Given the description of an element on the screen output the (x, y) to click on. 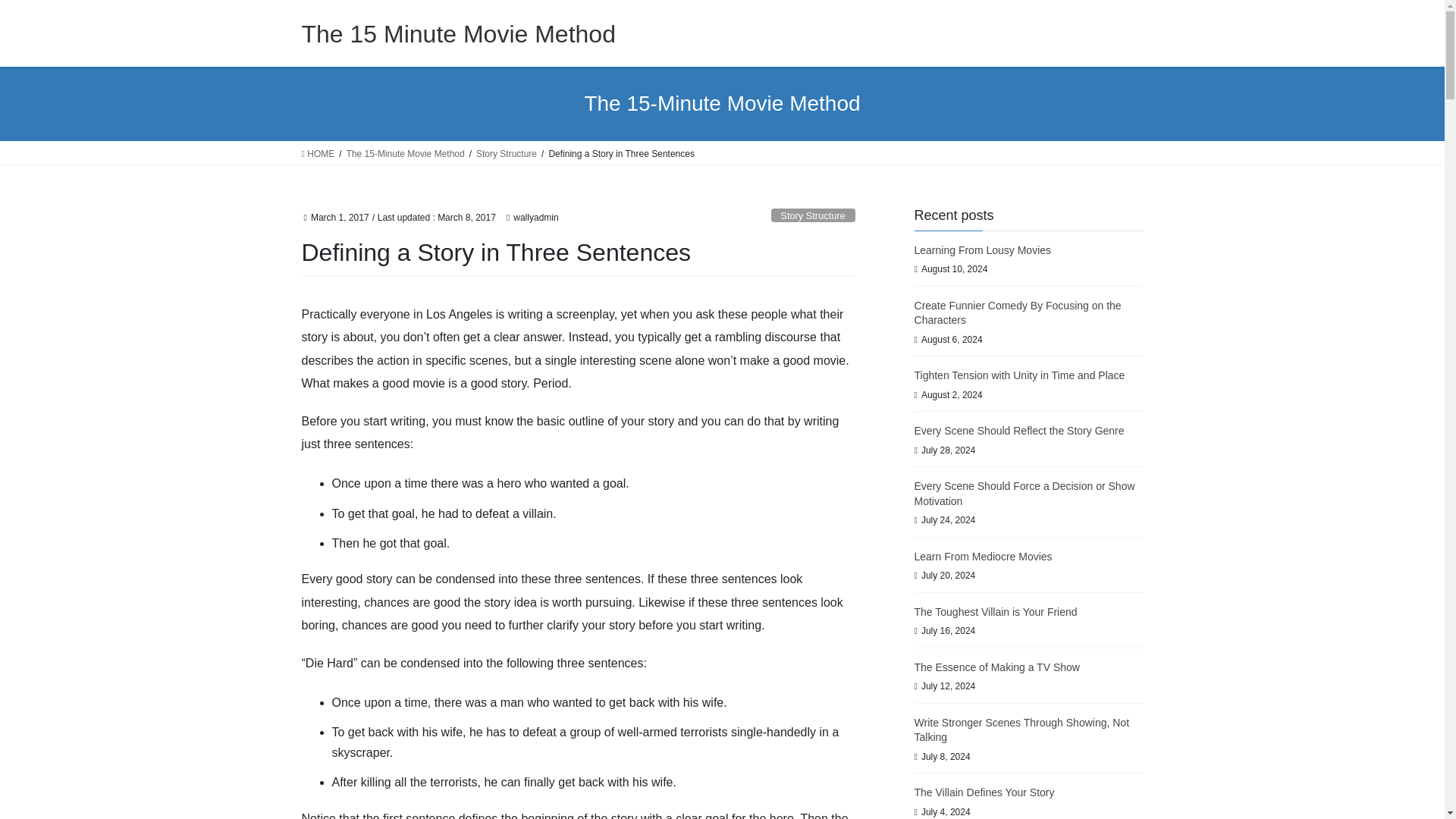
Learn From Mediocre Movies (983, 556)
Story Structure (506, 153)
Learning From Lousy Movies (982, 250)
Every Scene Should Force a Decision or Show Motivation (1024, 492)
Every Scene Should Reflect the Story Genre (1019, 430)
Tighten Tension with Unity in Time and Place (1019, 375)
The Essence of Making a TV Show (997, 666)
The Toughest Villain is Your Friend (995, 612)
Story Structure (813, 215)
HOME (317, 153)
